Given the description of an element on the screen output the (x, y) to click on. 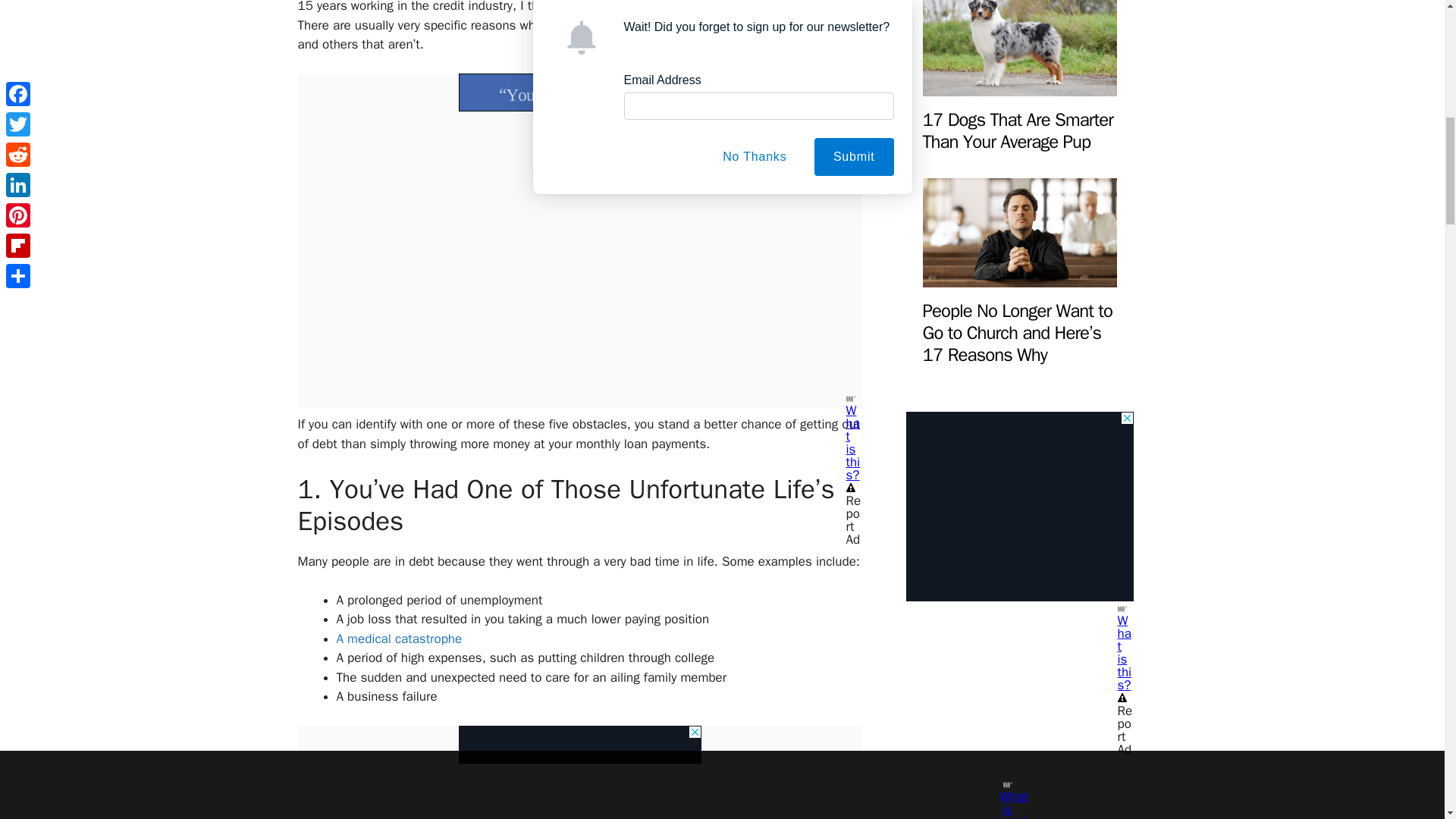
What To Do If You Have a Large Medical Bill (399, 638)
A medical catastrophe (399, 638)
17 Dogs That Are Smarter Than Your Average Pup (1016, 130)
3rd party ad content (579, 92)
3rd party ad content (579, 744)
